Given the description of an element on the screen output the (x, y) to click on. 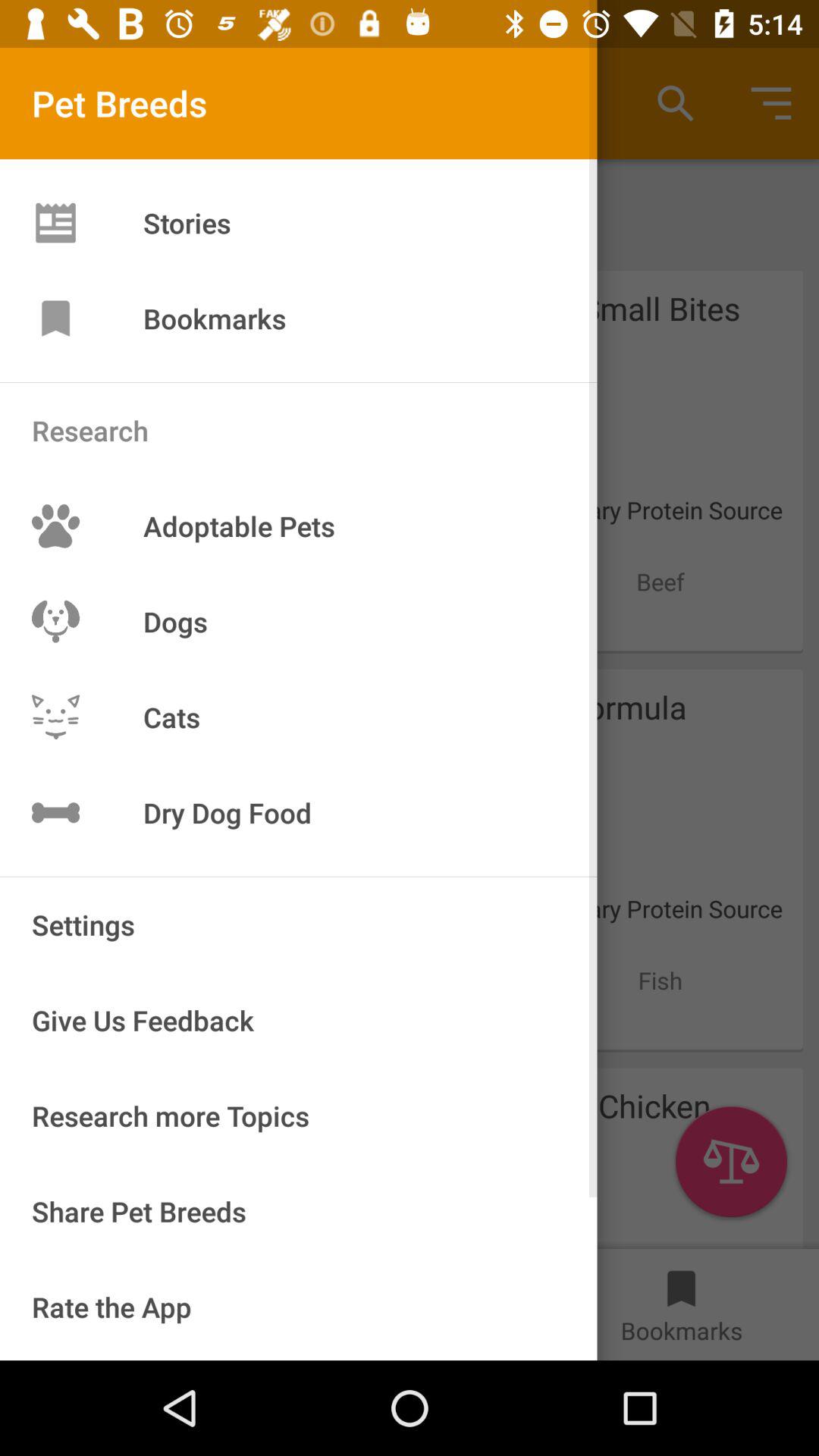
click on the bookmarks icon to the right bottom of the page (681, 1281)
click on search icon (675, 103)
